Given the description of an element on the screen output the (x, y) to click on. 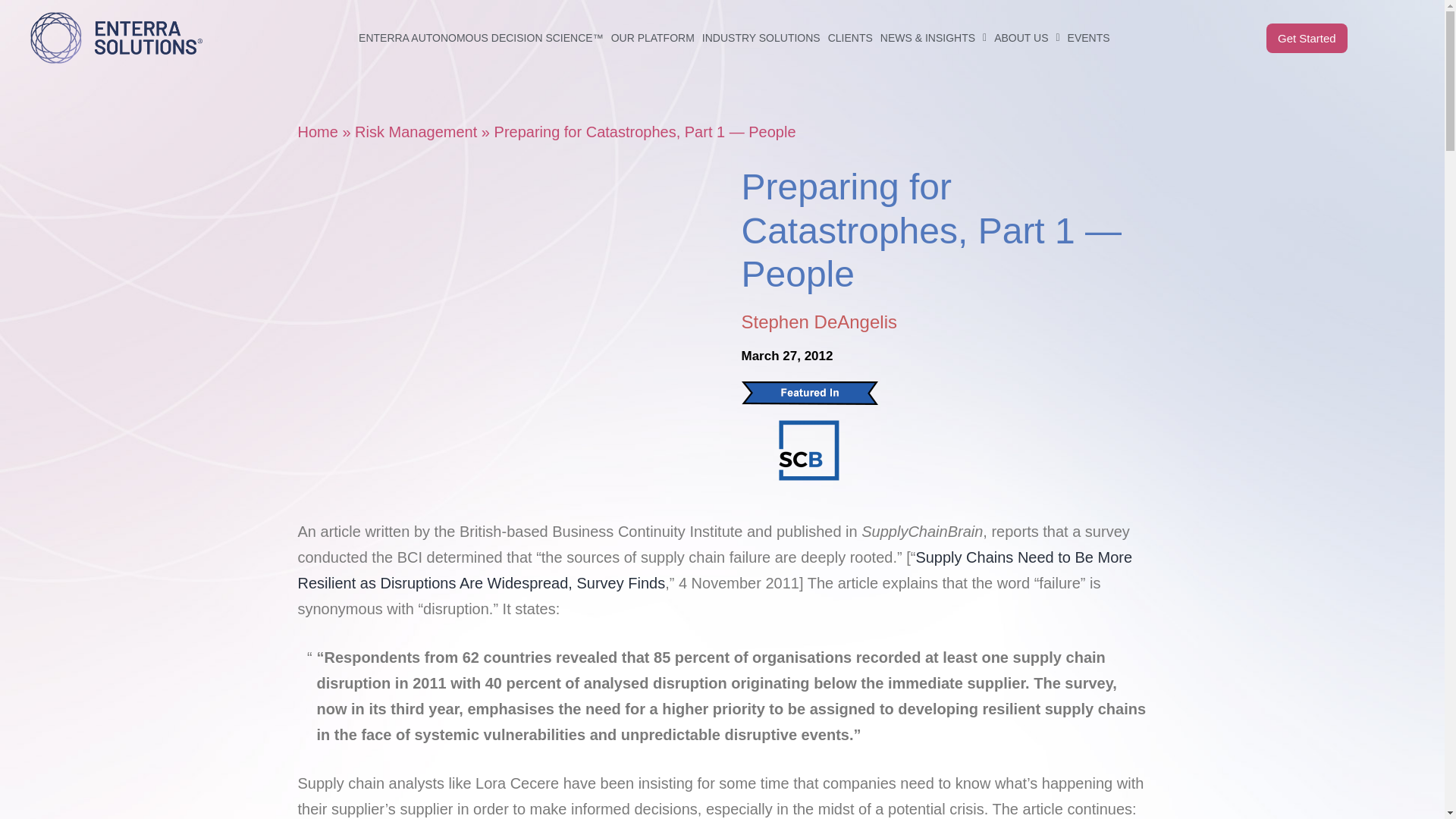
INDUSTRY SOLUTIONS (761, 8)
Home (317, 131)
EVENTS (1088, 25)
Risk Management (416, 131)
CLIENTS (850, 10)
Get Started (1307, 34)
OUR PLATFORM (652, 6)
supplu-chain (807, 450)
ABOUT US (1026, 19)
